Given the description of an element on the screen output the (x, y) to click on. 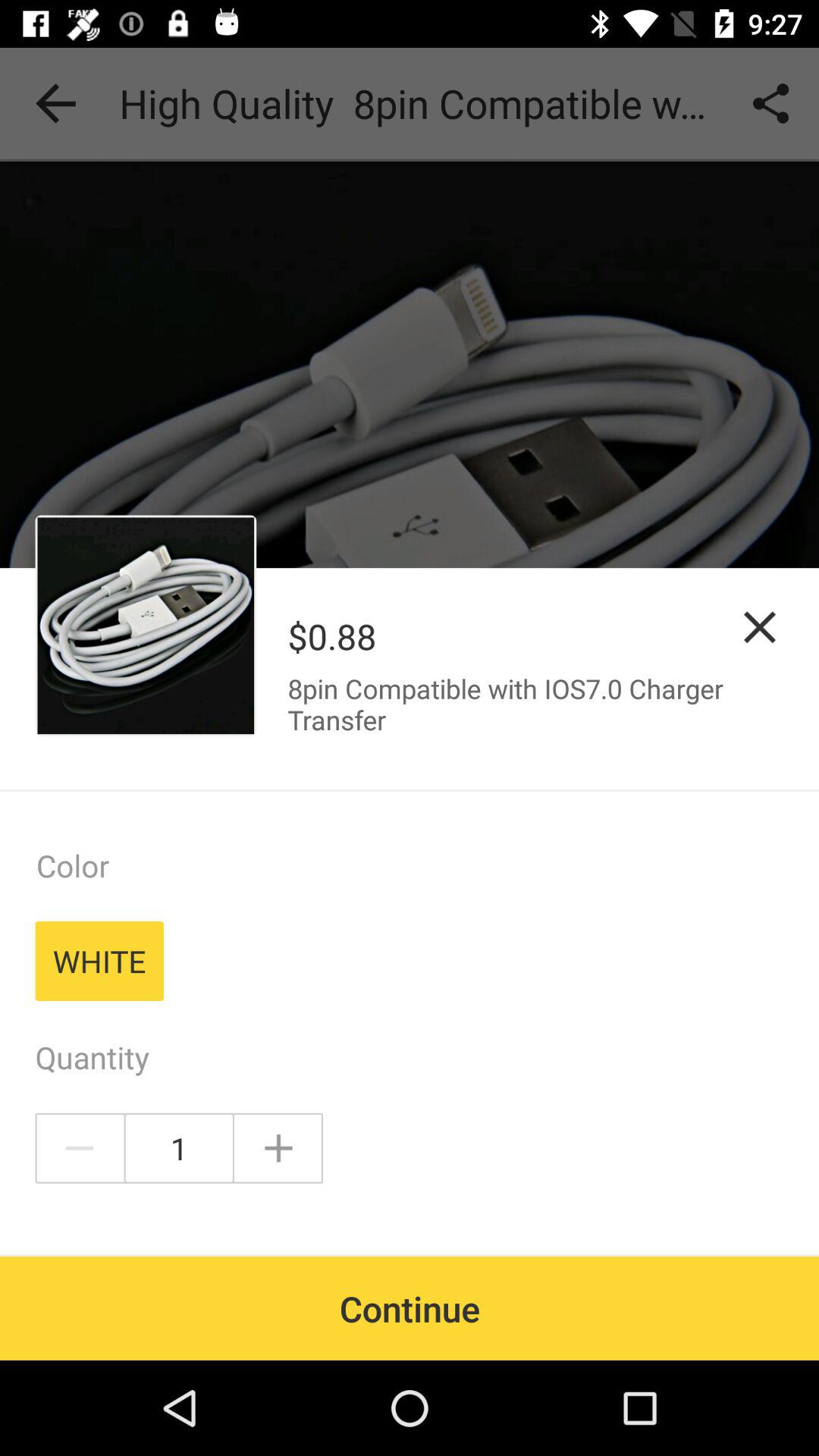
exit from this item (759, 627)
